Given the description of an element on the screen output the (x, y) to click on. 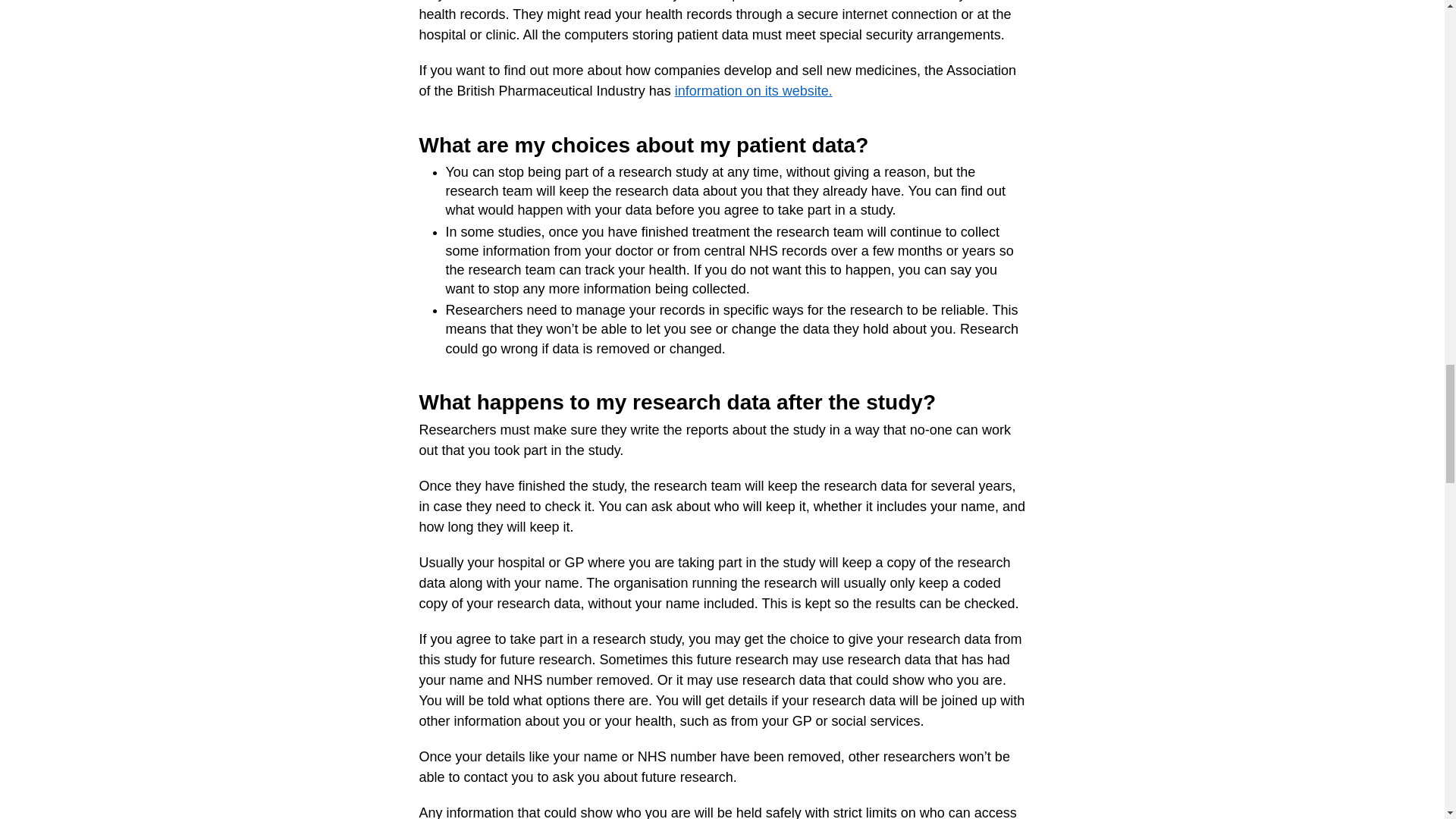
information on its website. (753, 90)
